Given the description of an element on the screen output the (x, y) to click on. 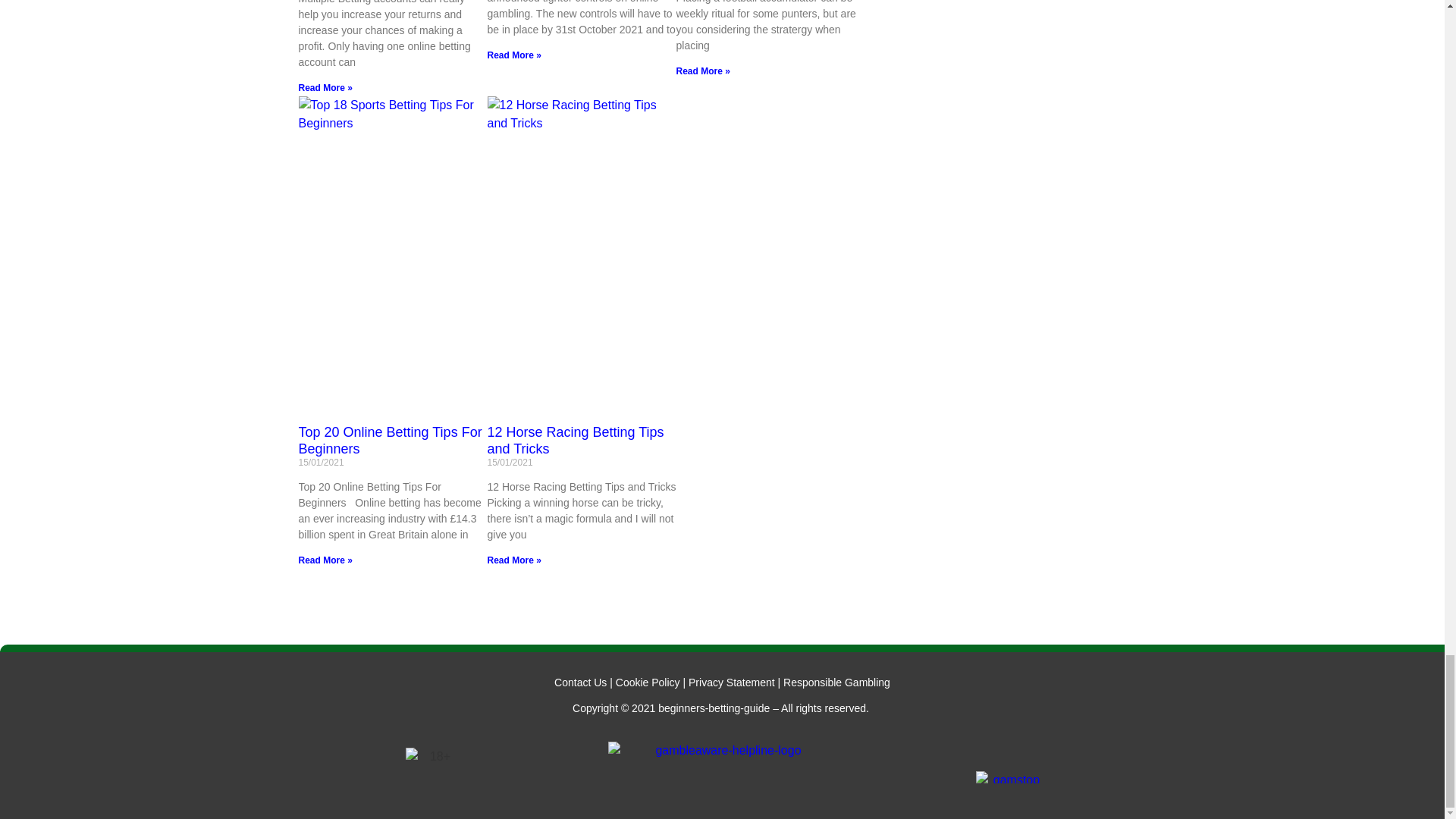
Top 20 Online Betting Tips For Beginners (389, 440)
